Given the description of an element on the screen output the (x, y) to click on. 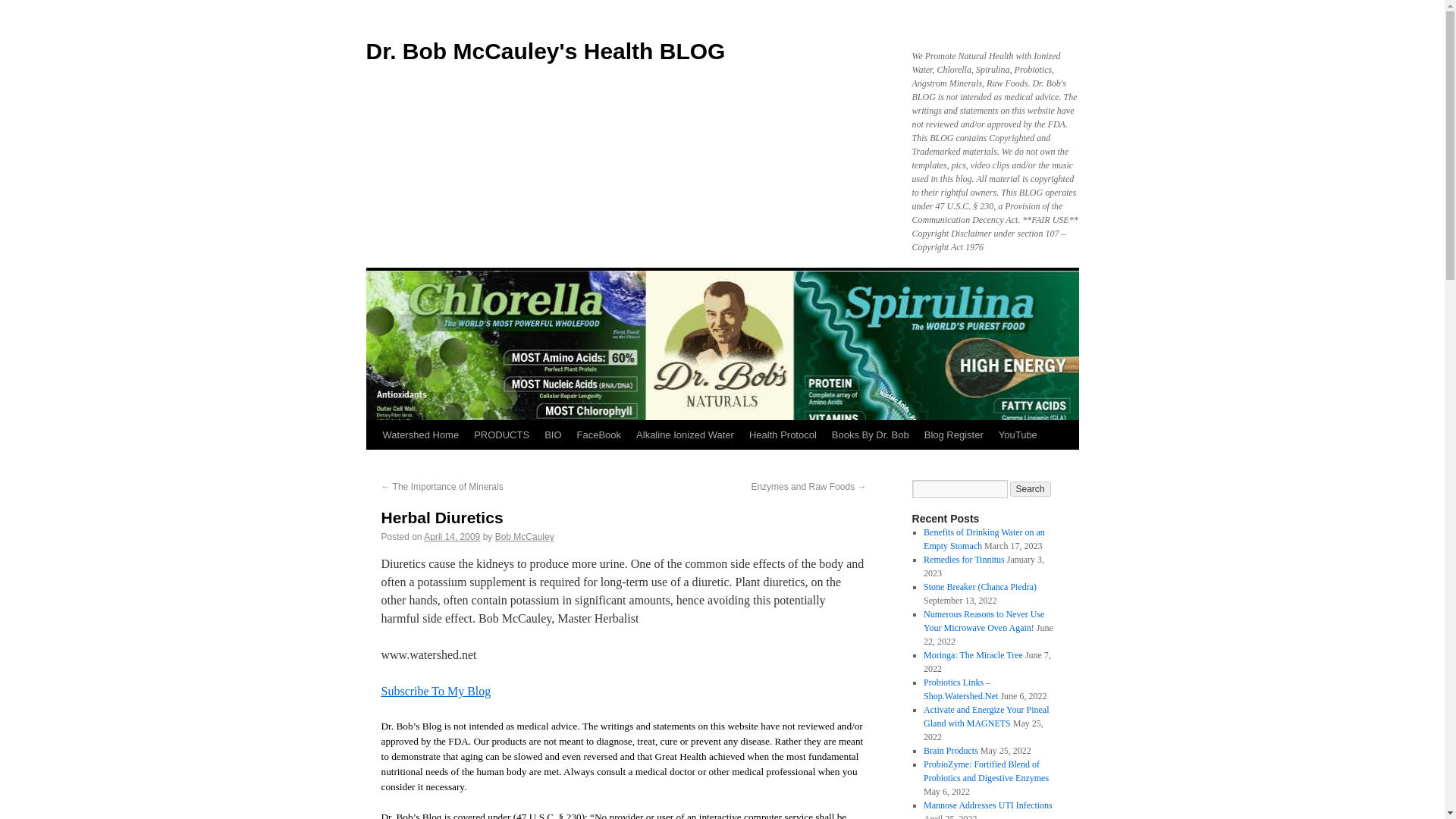
Remedies for Tinnitus (963, 559)
PRODUCTS (501, 434)
1:10 PM (451, 536)
Alkaline Ionized Water (684, 434)
Benefits of Drinking Water on an Empty Stomach (984, 539)
FaceBook (598, 434)
Health Books by Dr. Bob (870, 434)
April 14, 2009 (451, 536)
Dr. Bob McCauley's Health BLOG (545, 50)
WWC Videos (1018, 434)
BIO (553, 434)
Search (1030, 488)
WWW.WATERSHED.NET (419, 434)
Search (1030, 488)
Dr. Bob McCauley's Health BLOG (545, 50)
